Given the description of an element on the screen output the (x, y) to click on. 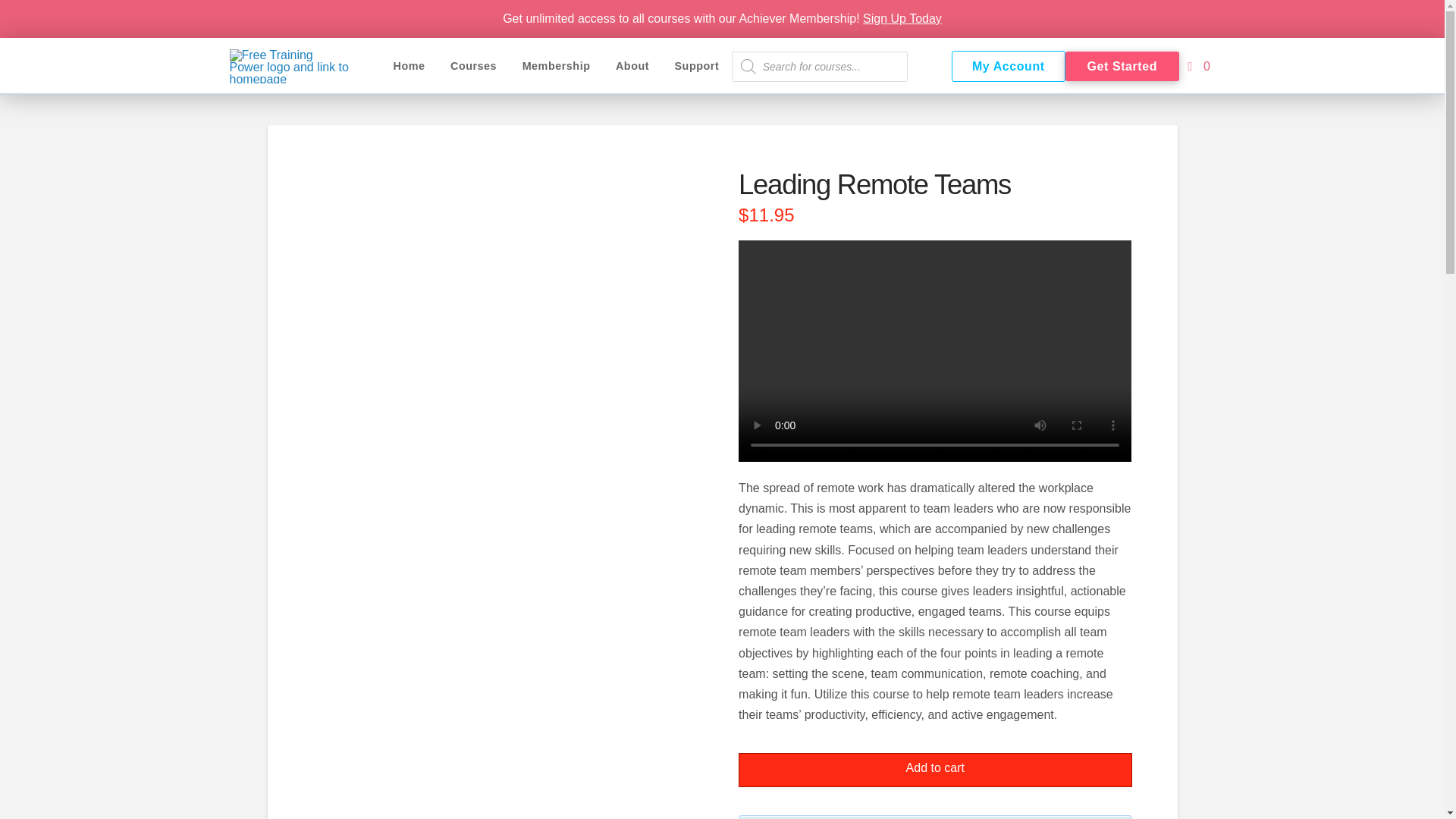
Home (409, 66)
My Account (1007, 65)
About (632, 66)
Get Started (1120, 66)
Support (697, 66)
Membership (555, 66)
Courses (473, 66)
Add to cart (934, 769)
